Given the description of an element on the screen output the (x, y) to click on. 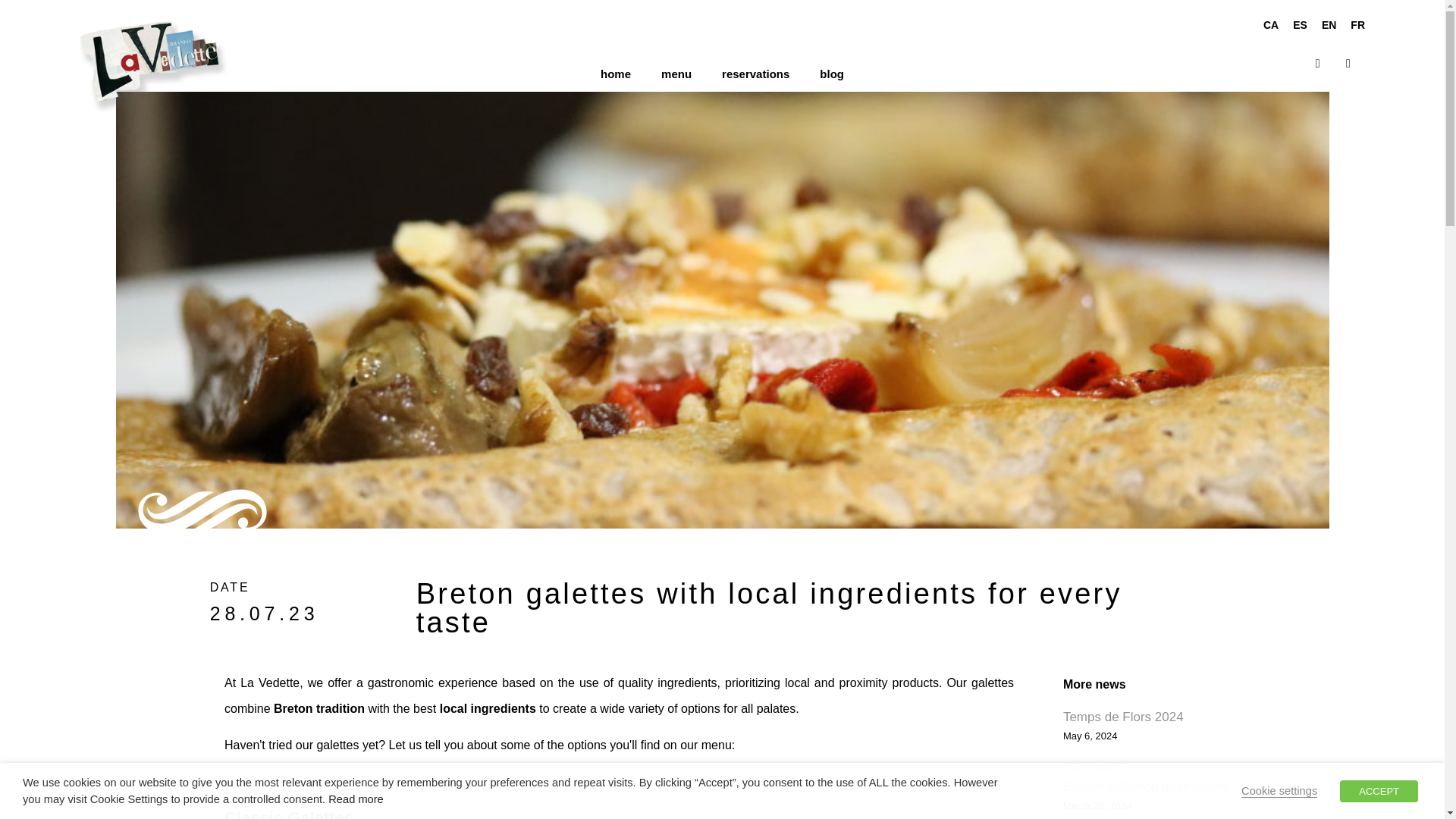
blog (832, 73)
Temps de Flors 2024 (1122, 716)
menu (676, 73)
READ MORE (1095, 766)
ACCEPT (1378, 790)
Read more (356, 799)
Exploring Breton gastronomy (1145, 786)
Cookie settings (1279, 789)
home (615, 73)
reservations (755, 73)
